Given the description of an element on the screen output the (x, y) to click on. 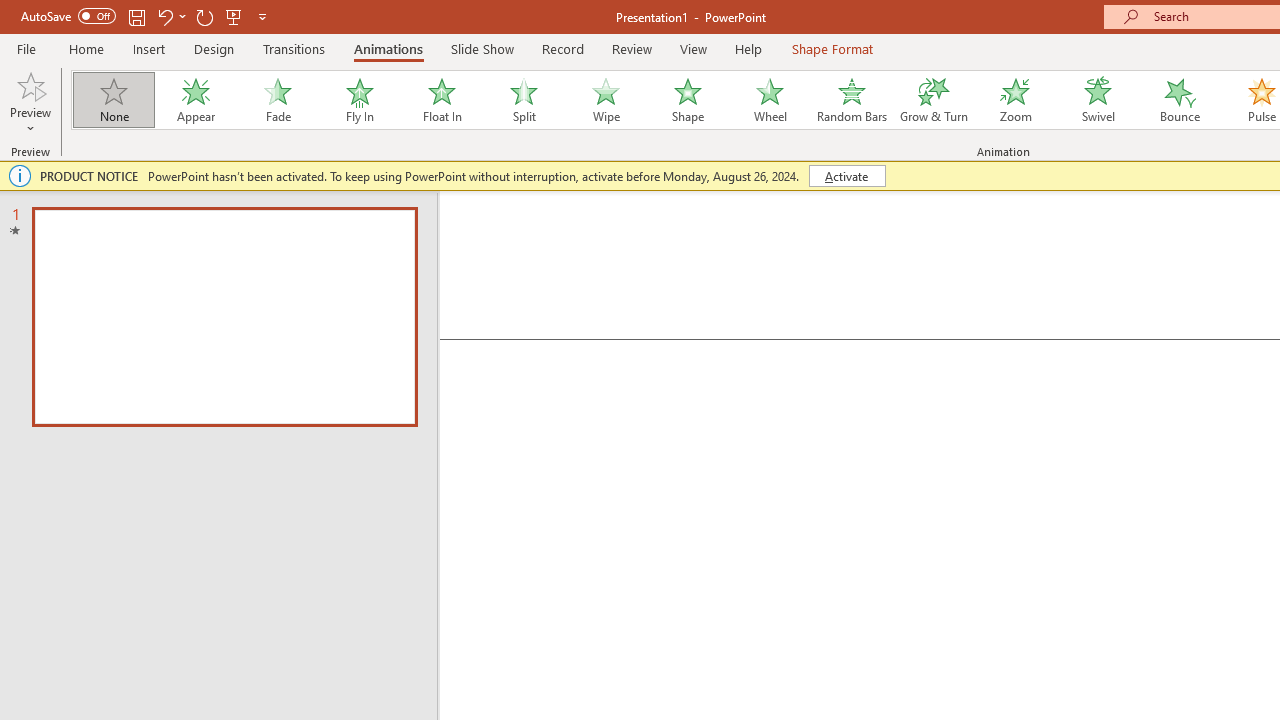
None (113, 100)
Fly In (359, 100)
Activate (846, 175)
Random Bars (852, 100)
